Given the description of an element on the screen output the (x, y) to click on. 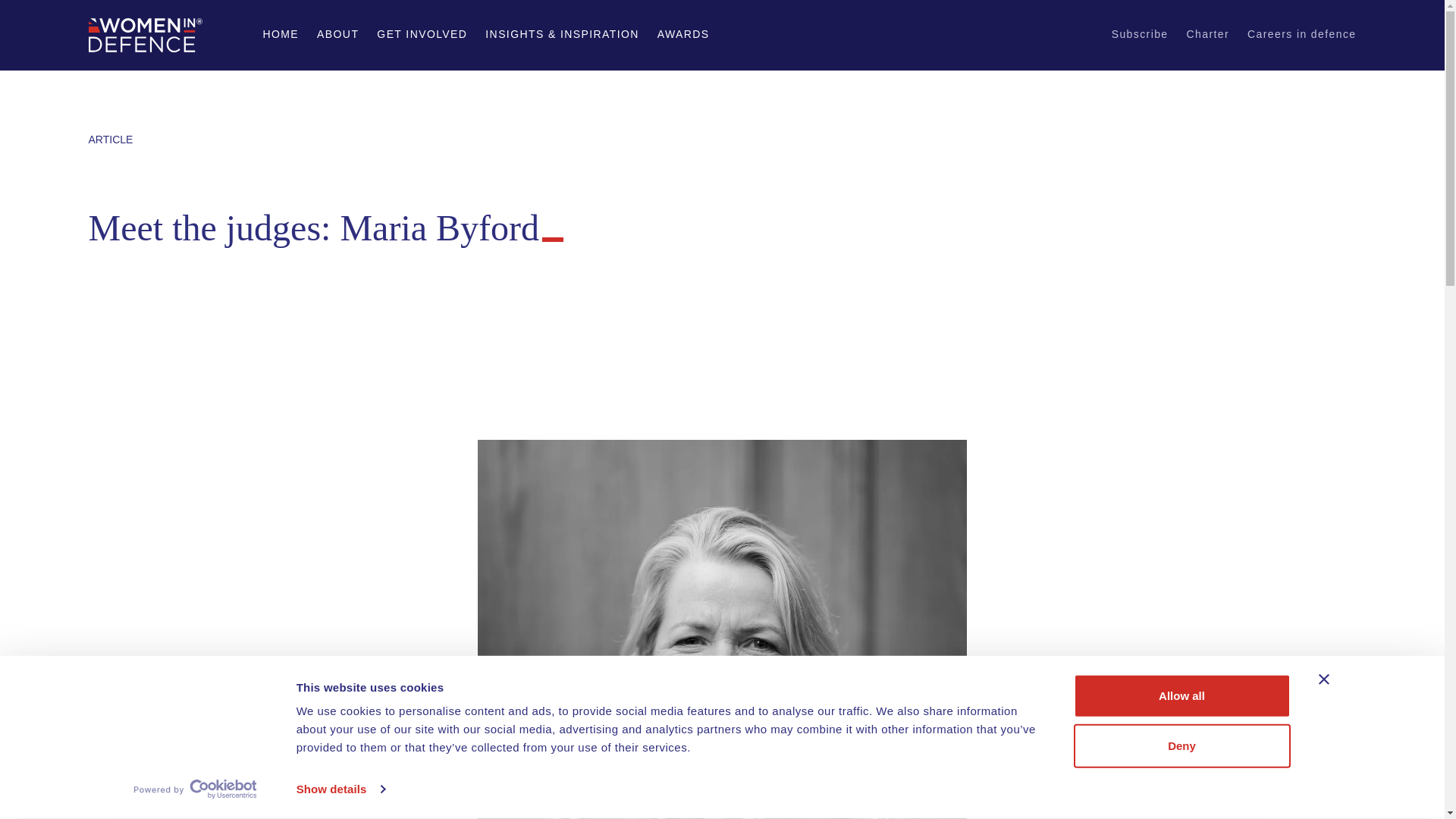
homepage (144, 35)
Show details (340, 789)
Allow all (1182, 696)
Deny (1182, 745)
